Given the description of an element on the screen output the (x, y) to click on. 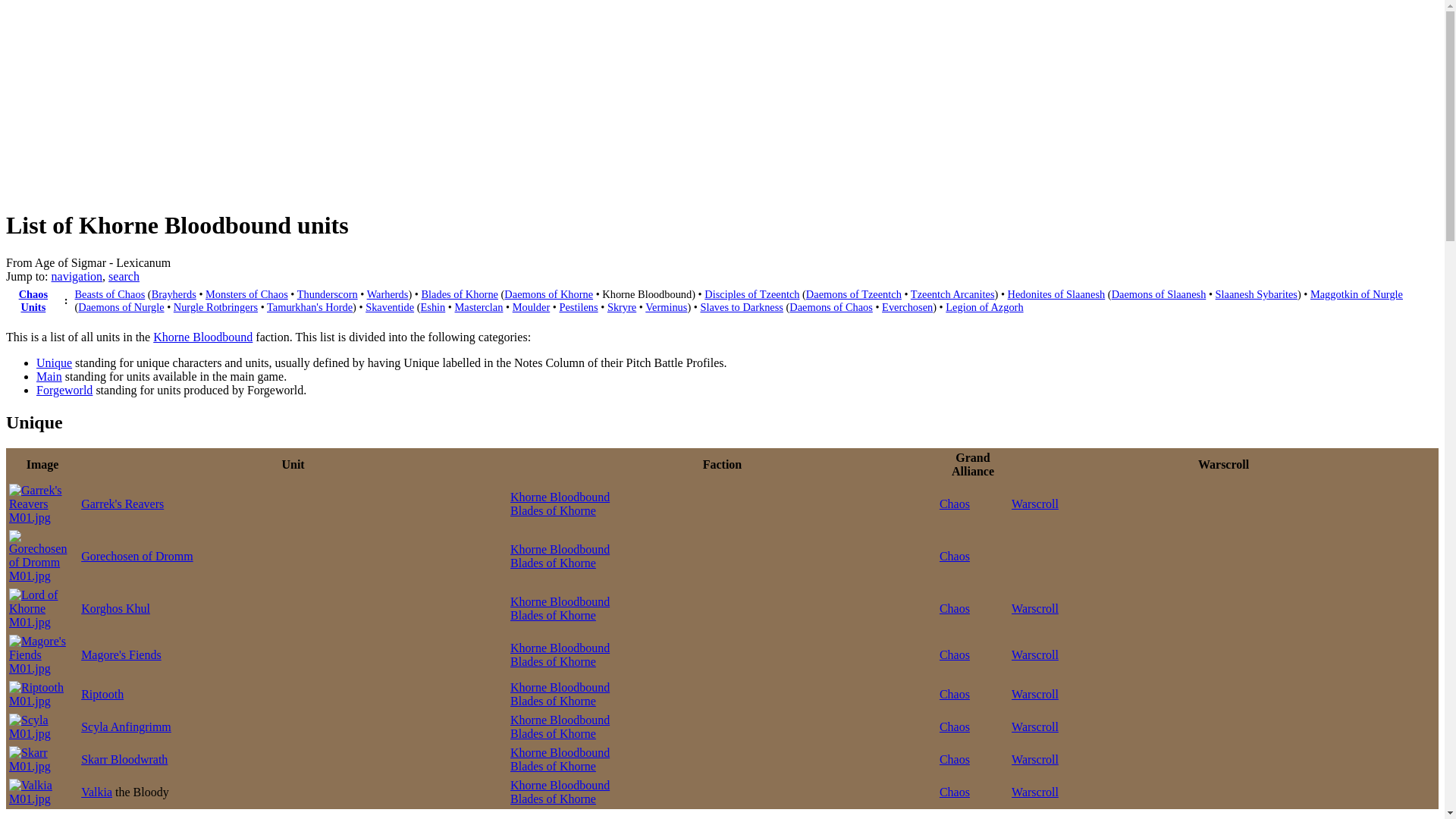
search (123, 276)
Daemons of Slaanesh (1159, 294)
Tamurkhan's Horde (309, 306)
Khorne Bloodbound (646, 294)
List of Daemons of Tzeentch units (853, 294)
Daemons of Chaos (830, 306)
Main (49, 376)
Skaventide (389, 306)
List of Slaanesh Sybarites units (1256, 294)
Slaves to Darkness (741, 306)
List of Hedonites of Slaanesh units (1056, 294)
List of Brayherds units (173, 294)
List of Thunderscorn units (327, 294)
List of Disciples of Tzeentch units (751, 294)
Skryre (621, 306)
